Given the description of an element on the screen output the (x, y) to click on. 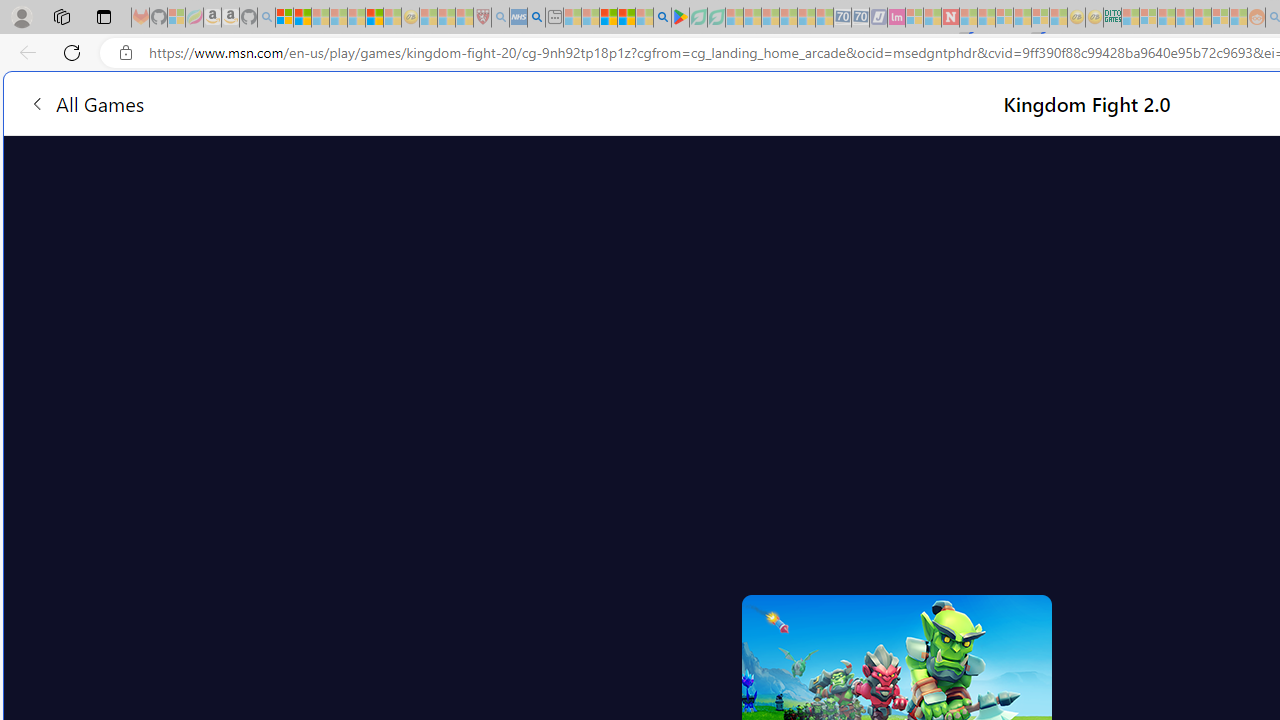
utah sues federal government - Search (536, 17)
All Games (380, 102)
